Given the description of an element on the screen output the (x, y) to click on. 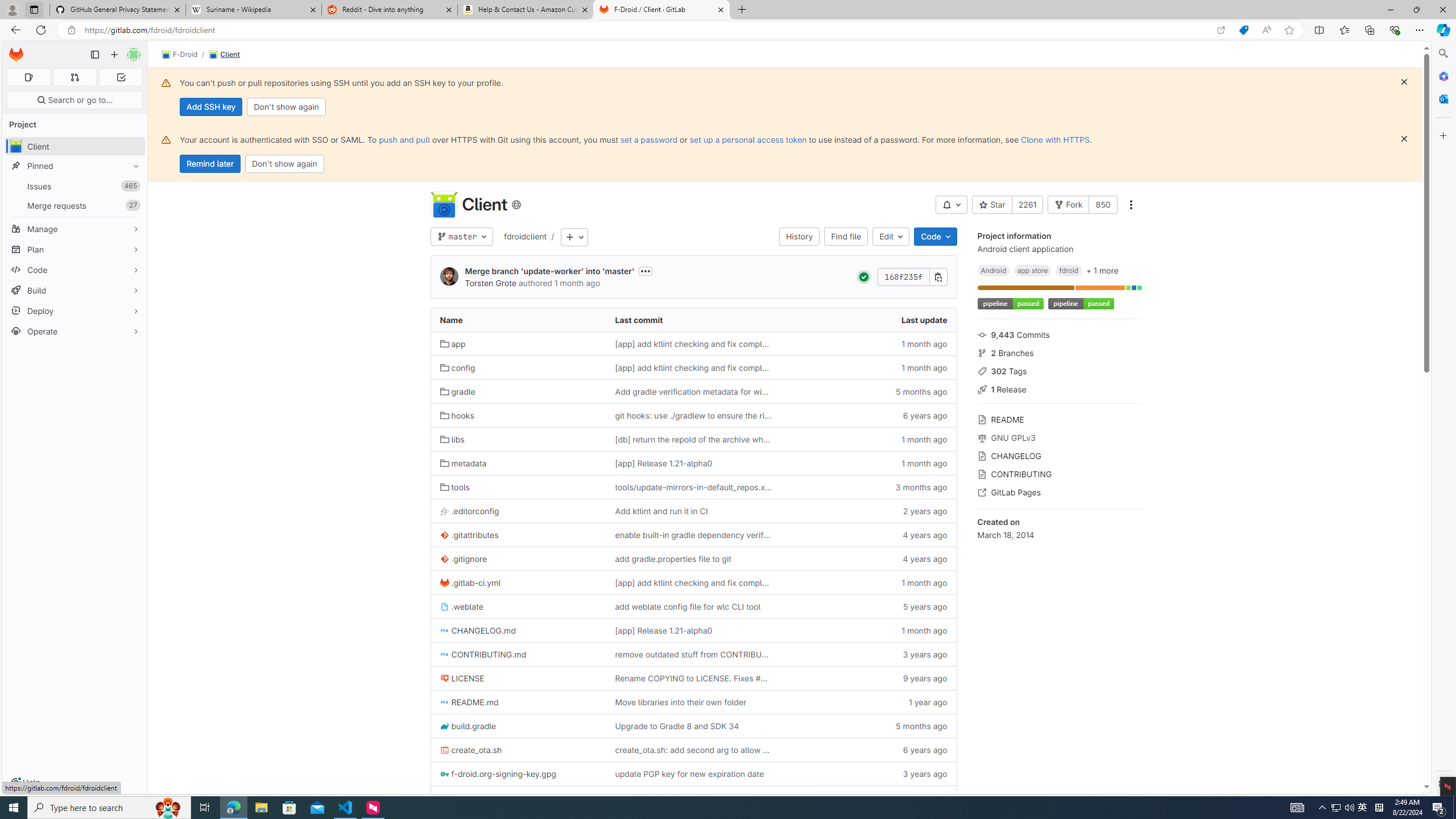
Operate (74, 330)
3 months ago (868, 487)
.editorconfig (517, 510)
Build (74, 289)
[app] Release 1.21-alpha0 (662, 630)
